Given the description of an element on the screen output the (x, y) to click on. 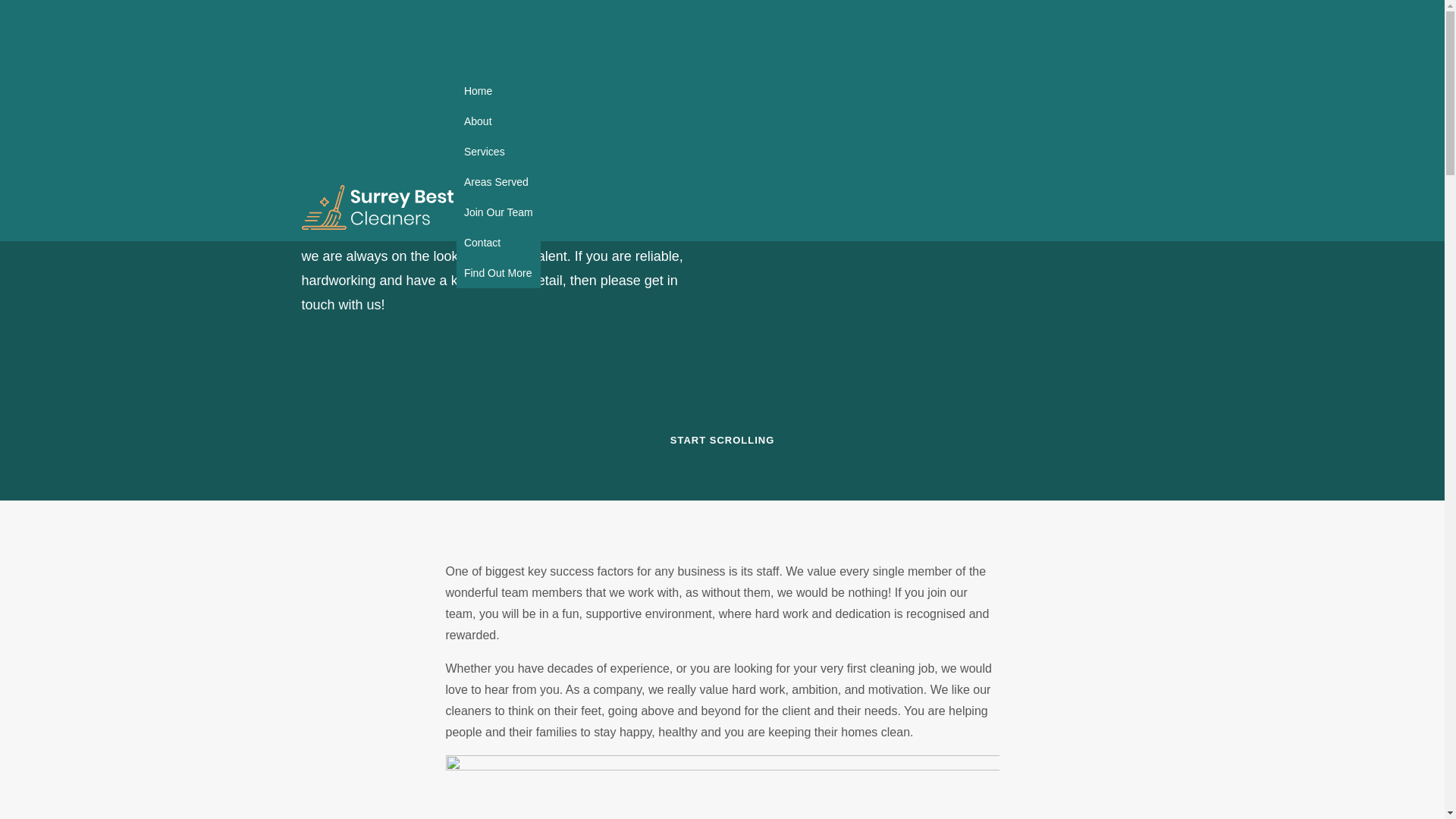
Join Our Team (498, 212)
Areas Served (498, 182)
About (498, 121)
Contact (498, 242)
Find Out More (498, 272)
Home (498, 91)
Services (498, 151)
